Given the description of an element on the screen output the (x, y) to click on. 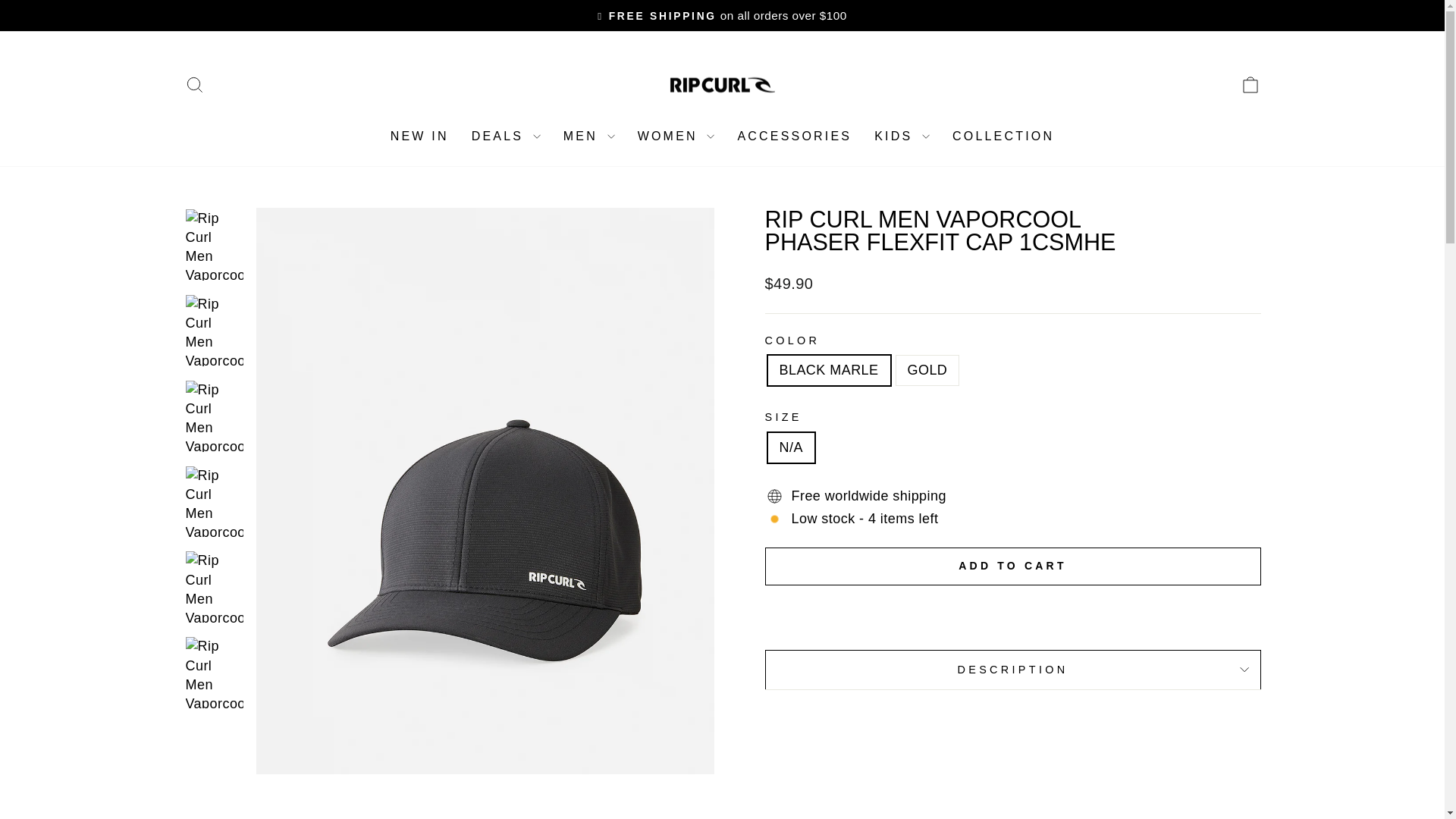
ICON-SEARCH (194, 84)
ICON-BAG-MINIMAL (1249, 84)
